Given the description of an element on the screen output the (x, y) to click on. 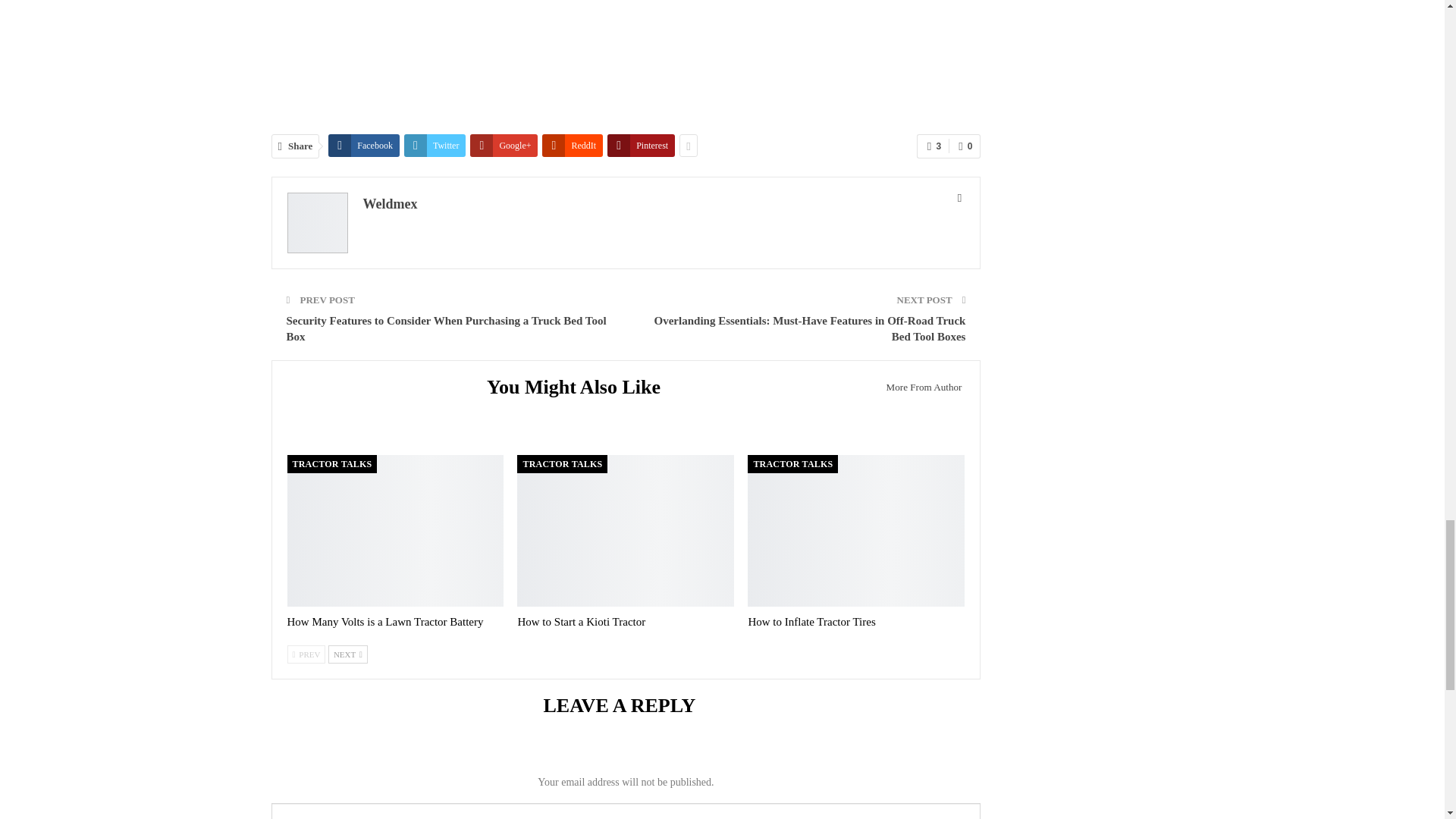
ReddIt (571, 144)
Twitter (434, 144)
Previous (305, 654)
How to Start a Kioti Tractor (624, 530)
Weldmex (389, 202)
Pinterest (641, 144)
How Many Volts is a Lawn Tractor Battery (384, 621)
You Might Also Like (579, 389)
How to Inflate Tractor Tires (811, 621)
0 (964, 145)
Facebook (363, 144)
How to Inflate Tractor Tires (855, 530)
How to Start a Kioti Tractor (580, 621)
How Many Volts is a Lawn Tractor Battery (394, 530)
